Given the description of an element on the screen output the (x, y) to click on. 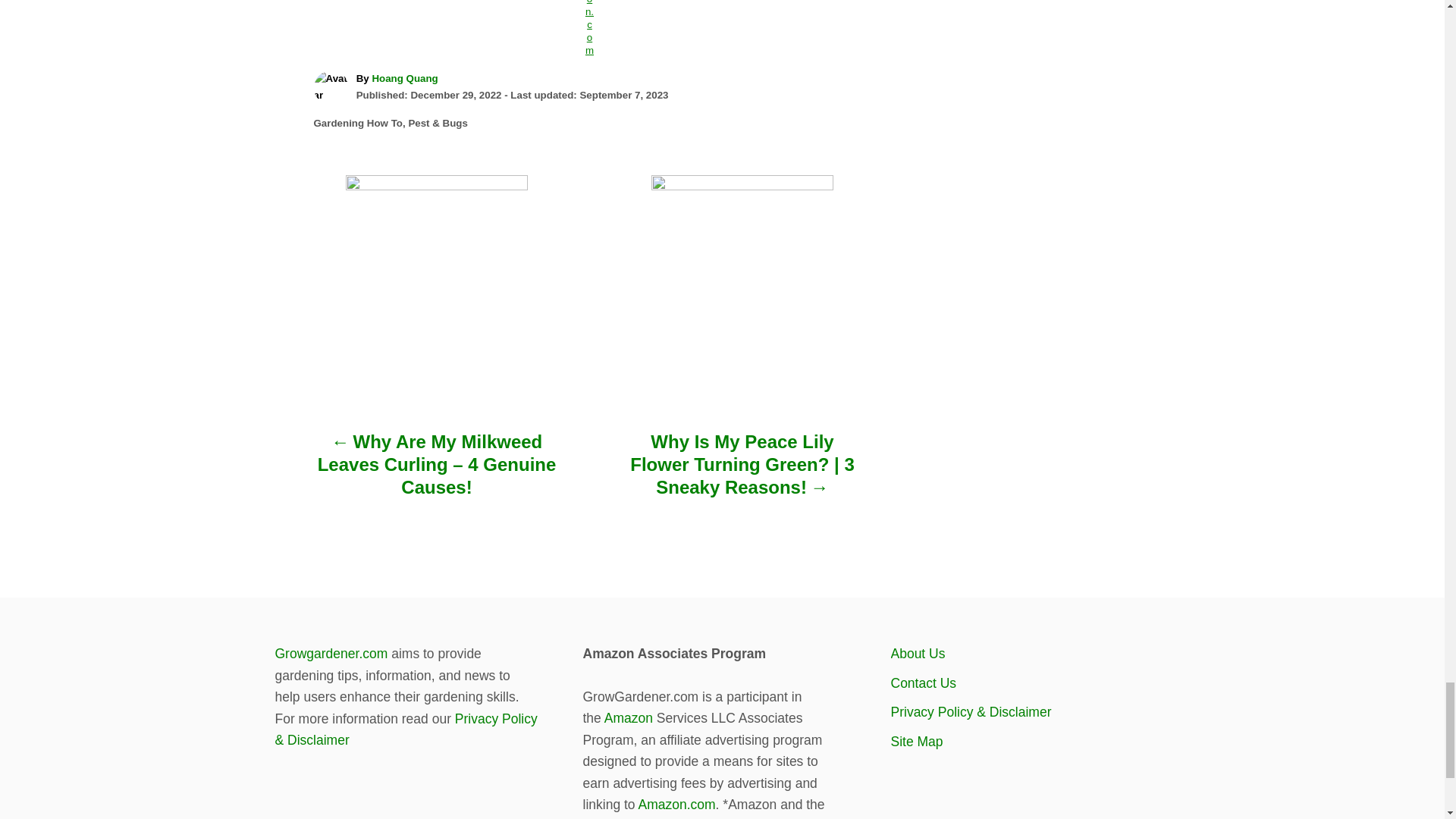
Hoang Quang (404, 78)
